Given the description of an element on the screen output the (x, y) to click on. 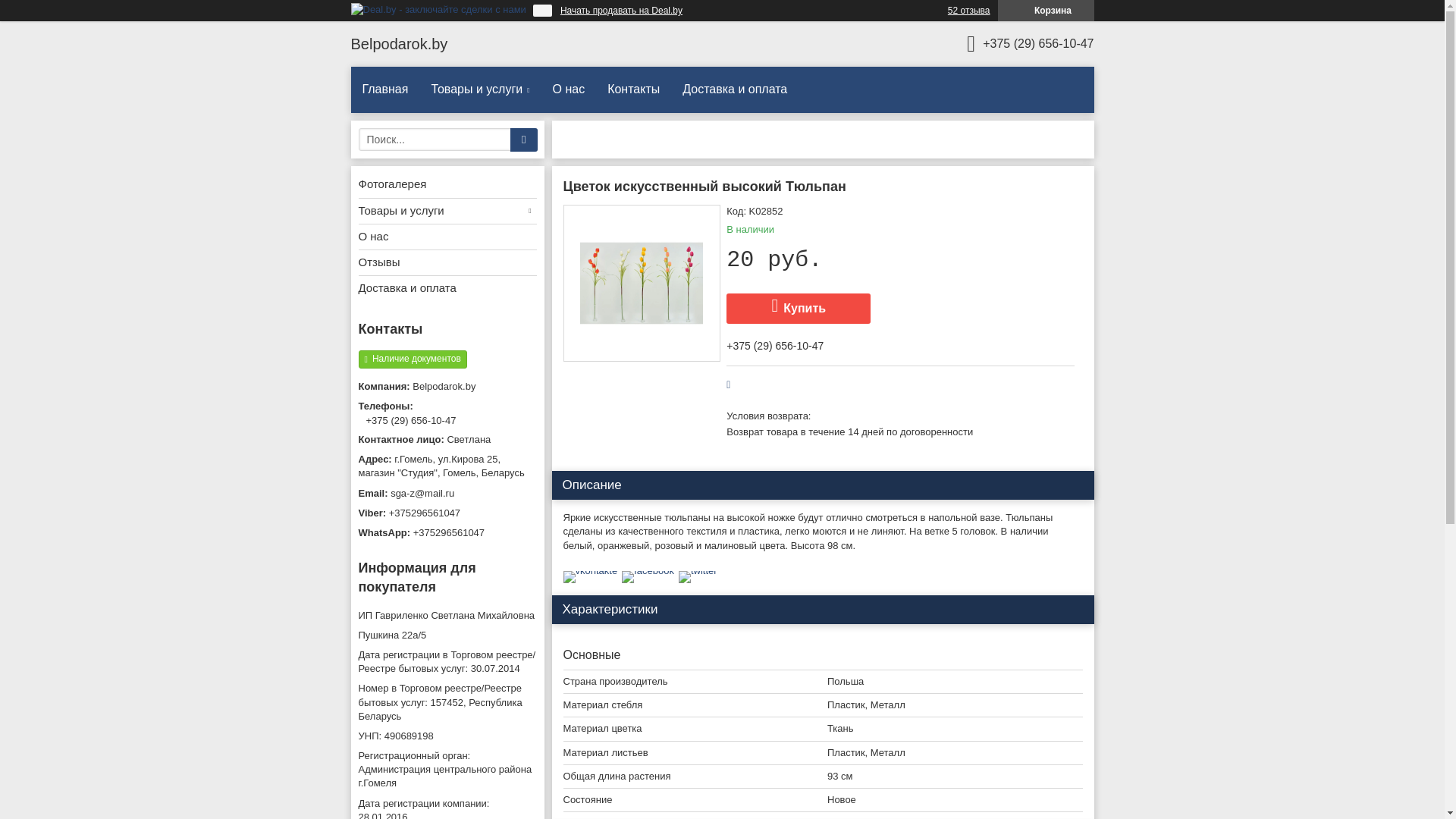
facebook Element type: hover (647, 570)
sga-z@mail.ru Element type: text (446, 493)
twitter Element type: hover (697, 570)
